Given the description of an element on the screen output the (x, y) to click on. 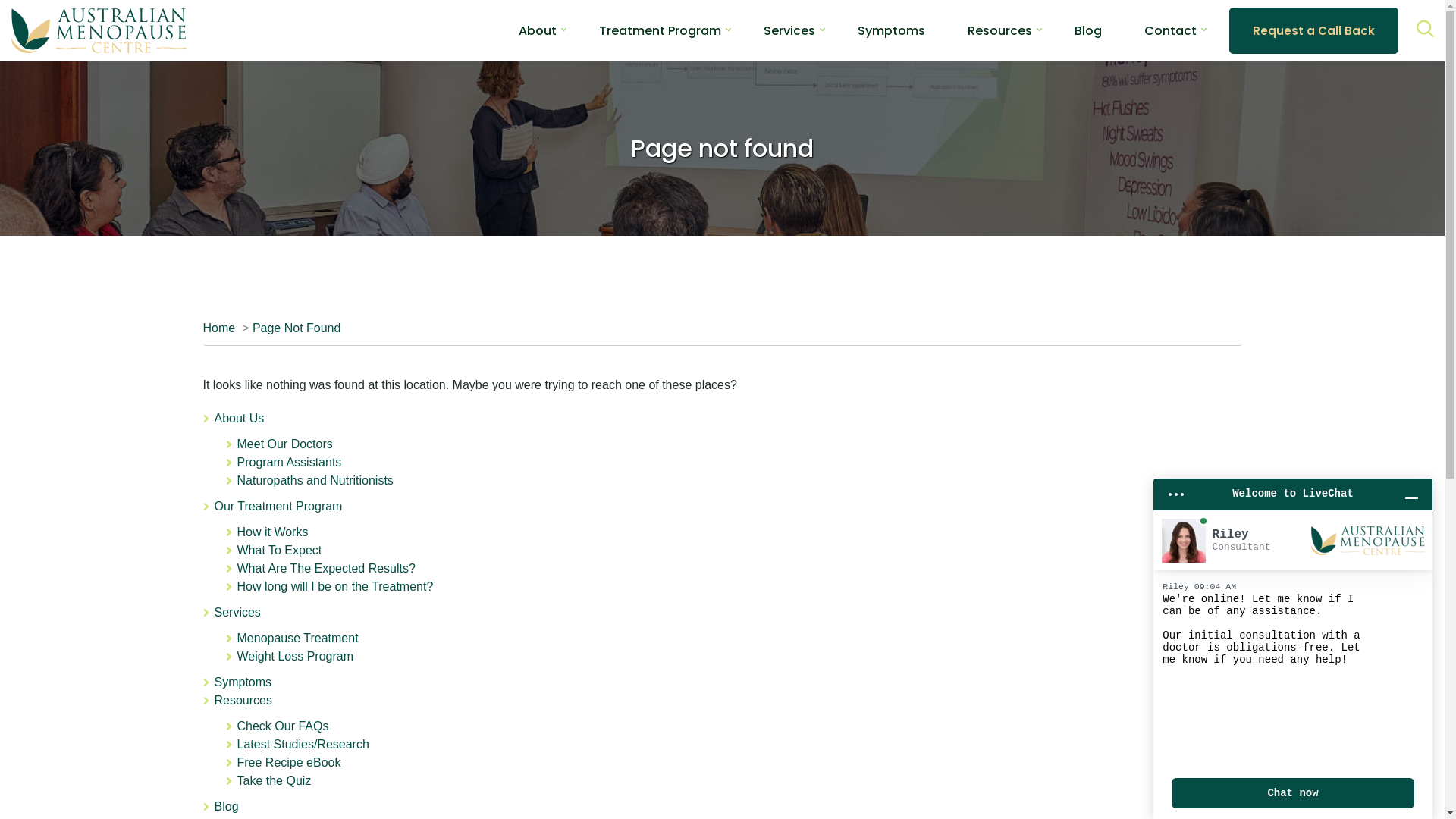
What Are The Expected Results? Element type: text (325, 567)
Blog Element type: text (1087, 30)
Home Element type: text (219, 327)
Blog Element type: text (225, 806)
Services Element type: text (789, 30)
Services Element type: text (236, 611)
Menopause Treatment Element type: text (296, 637)
Take the Quiz Element type: text (273, 780)
How long will I be on the Treatment? Element type: text (334, 586)
Resources Element type: text (999, 30)
Symptoms Element type: text (891, 30)
Resources Element type: text (242, 699)
Treatment Program Element type: text (660, 30)
Weight Loss Program Element type: text (294, 655)
How it Works Element type: text (271, 531)
Symptoms Element type: text (242, 681)
Page Not Found Element type: text (296, 327)
Free Recipe eBook Element type: text (288, 762)
Our Treatment Program Element type: text (277, 505)
Check Our FAQs Element type: text (282, 725)
Meet Our Doctors Element type: text (284, 443)
Latest Studies/Research Element type: text (302, 743)
About Us Element type: text (238, 417)
About Element type: text (537, 30)
Contact Element type: text (1170, 30)
What To Expect Element type: text (278, 549)
Naturopaths and Nutritionists Element type: text (314, 479)
Request a Call Back Element type: text (1313, 30)
Program Assistants Element type: text (288, 461)
